Given the description of an element on the screen output the (x, y) to click on. 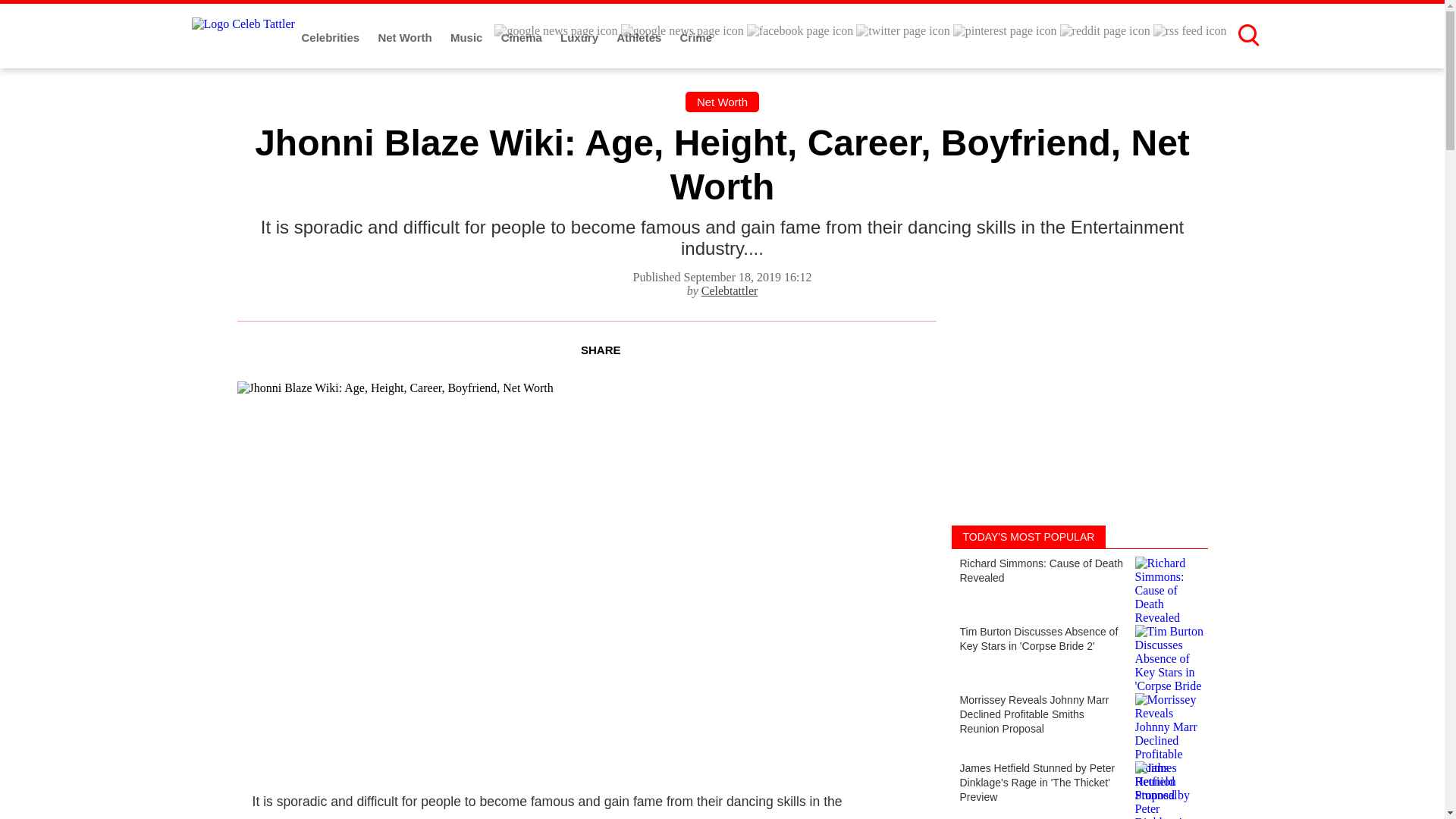
Net Worth (406, 37)
Celebtattler (729, 290)
Athletes (639, 37)
Crime (696, 37)
Luxury (580, 37)
Celebrities (331, 37)
Net Worth (722, 101)
Cinema (522, 37)
Music (467, 37)
